Given the description of an element on the screen output the (x, y) to click on. 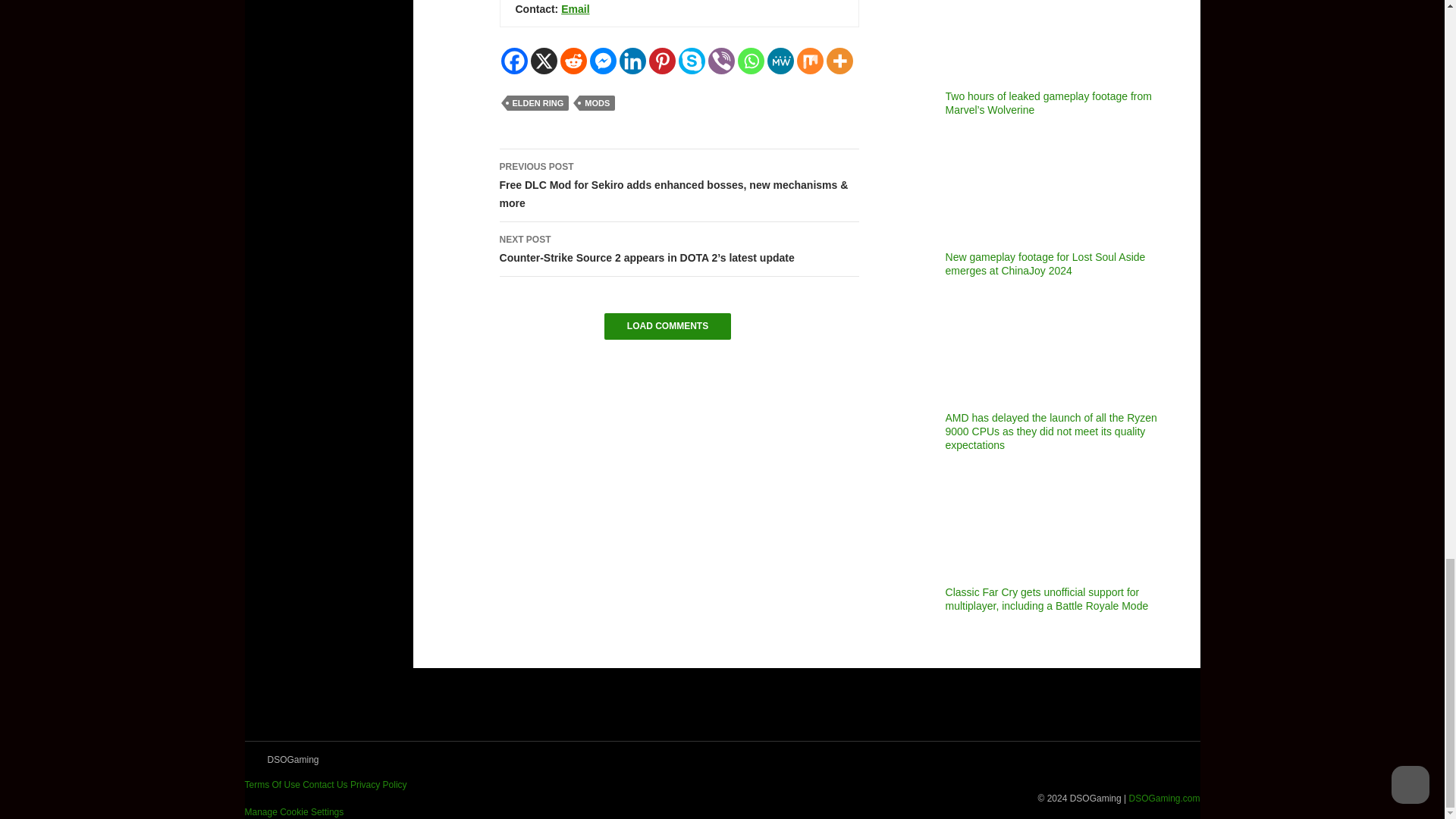
Facebook (513, 60)
